Given the description of an element on the screen output the (x, y) to click on. 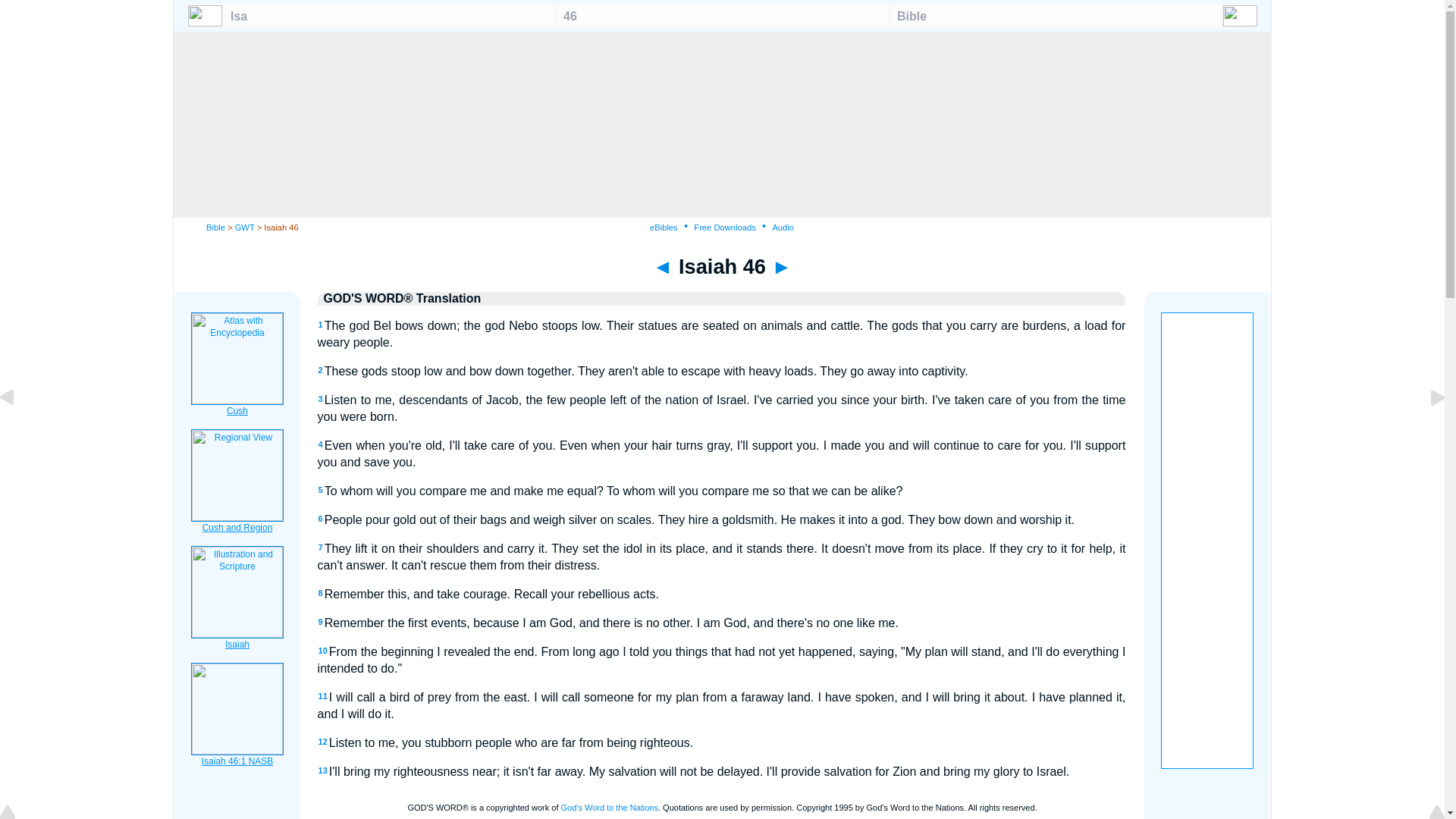
11 (322, 696)
10 (322, 650)
12 (322, 741)
Bible (215, 226)
Top of Page (18, 813)
GWT (244, 226)
Isaiah 45 (18, 431)
God's Word to the Nations (609, 807)
13 (322, 769)
